Given the description of an element on the screen output the (x, y) to click on. 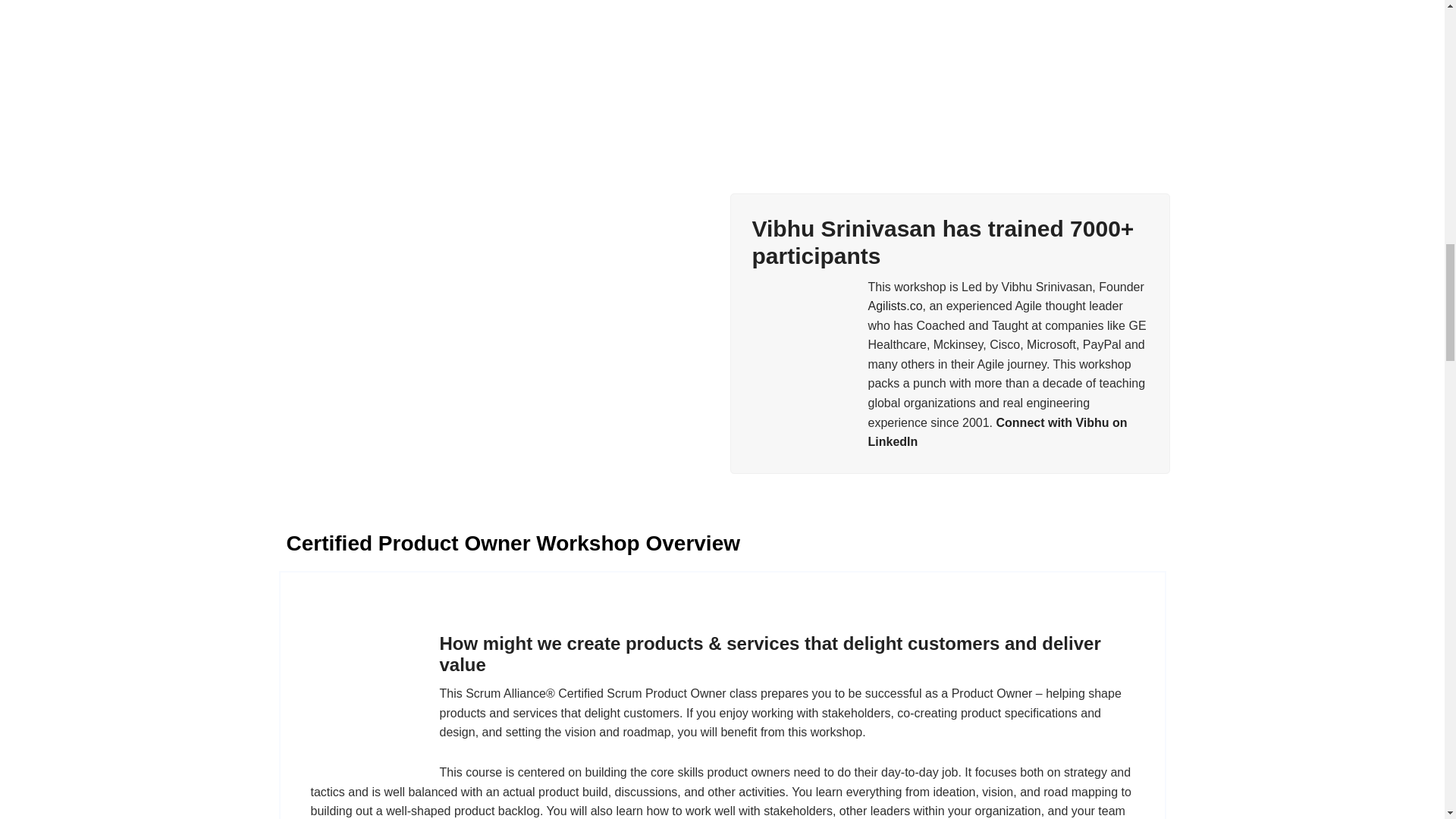
Agilists.co (894, 305)
Connect with Vibhu on LinkedIn (996, 432)
